Given the description of an element on the screen output the (x, y) to click on. 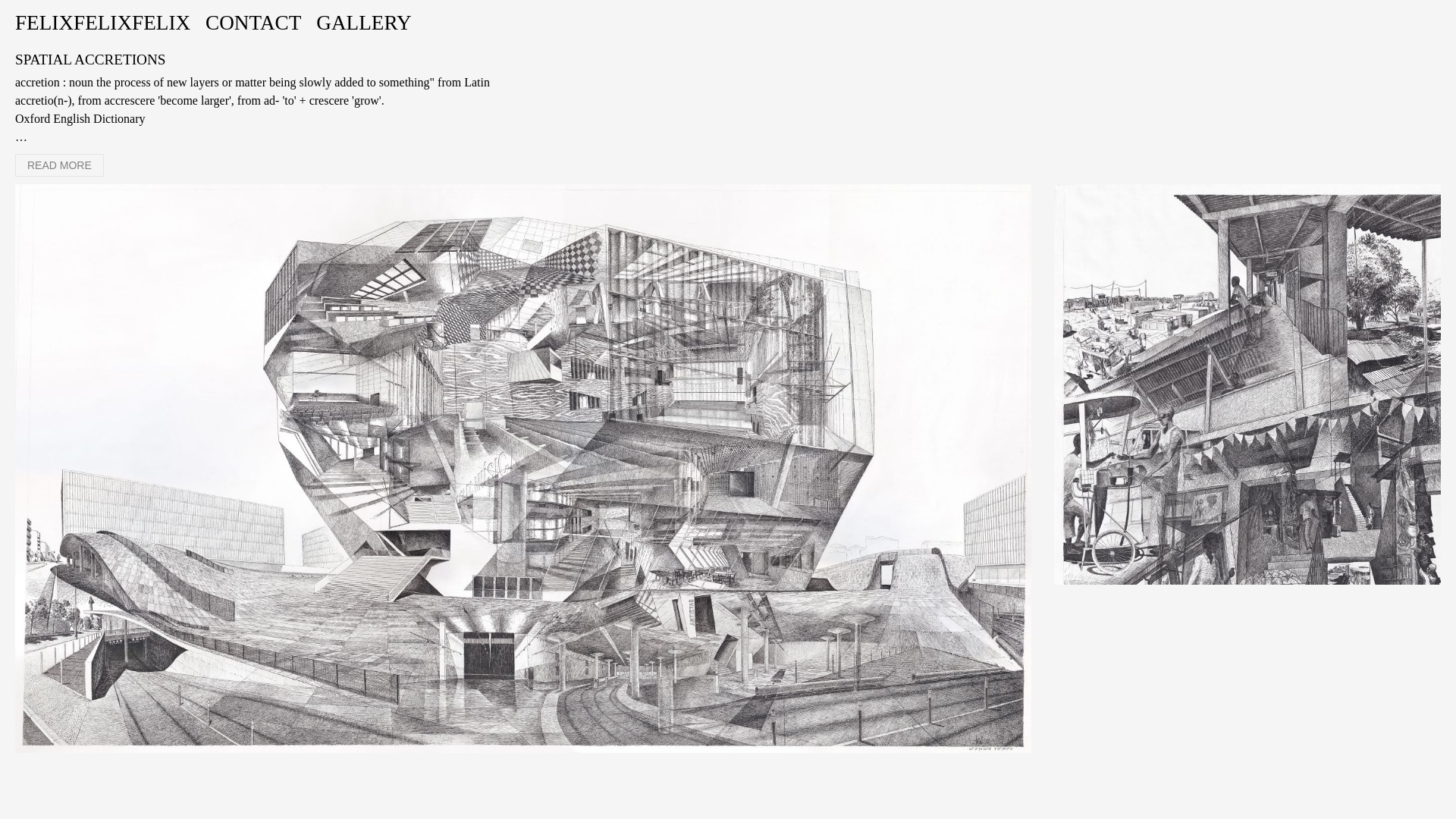
READ MORE (58, 164)
GALLERY (362, 22)
CONTACT (253, 22)
FELIXFELIXFELIX (102, 22)
